Given the description of an element on the screen output the (x, y) to click on. 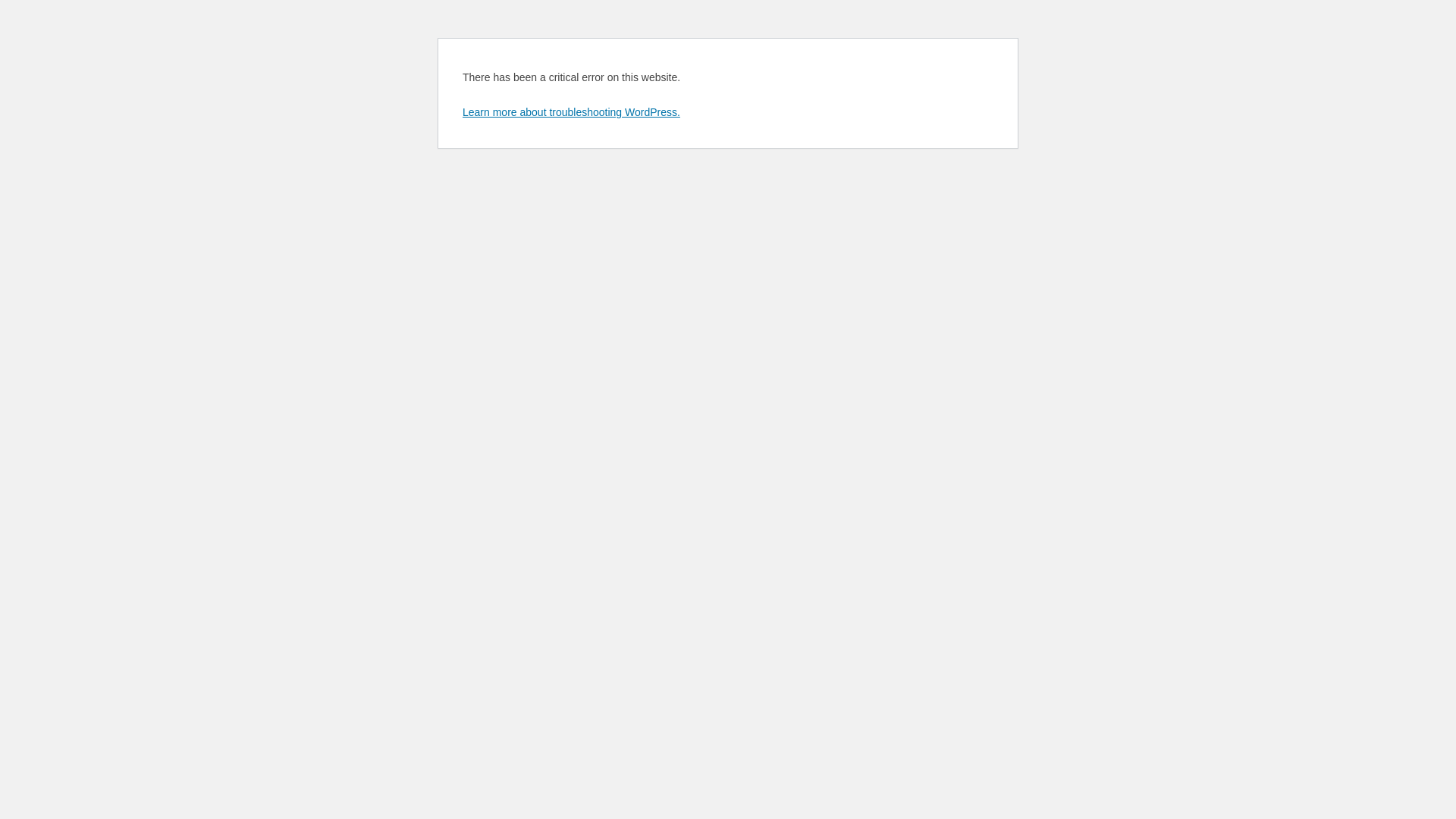
Learn more about troubleshooting WordPress. Element type: text (571, 112)
